Given the description of an element on the screen output the (x, y) to click on. 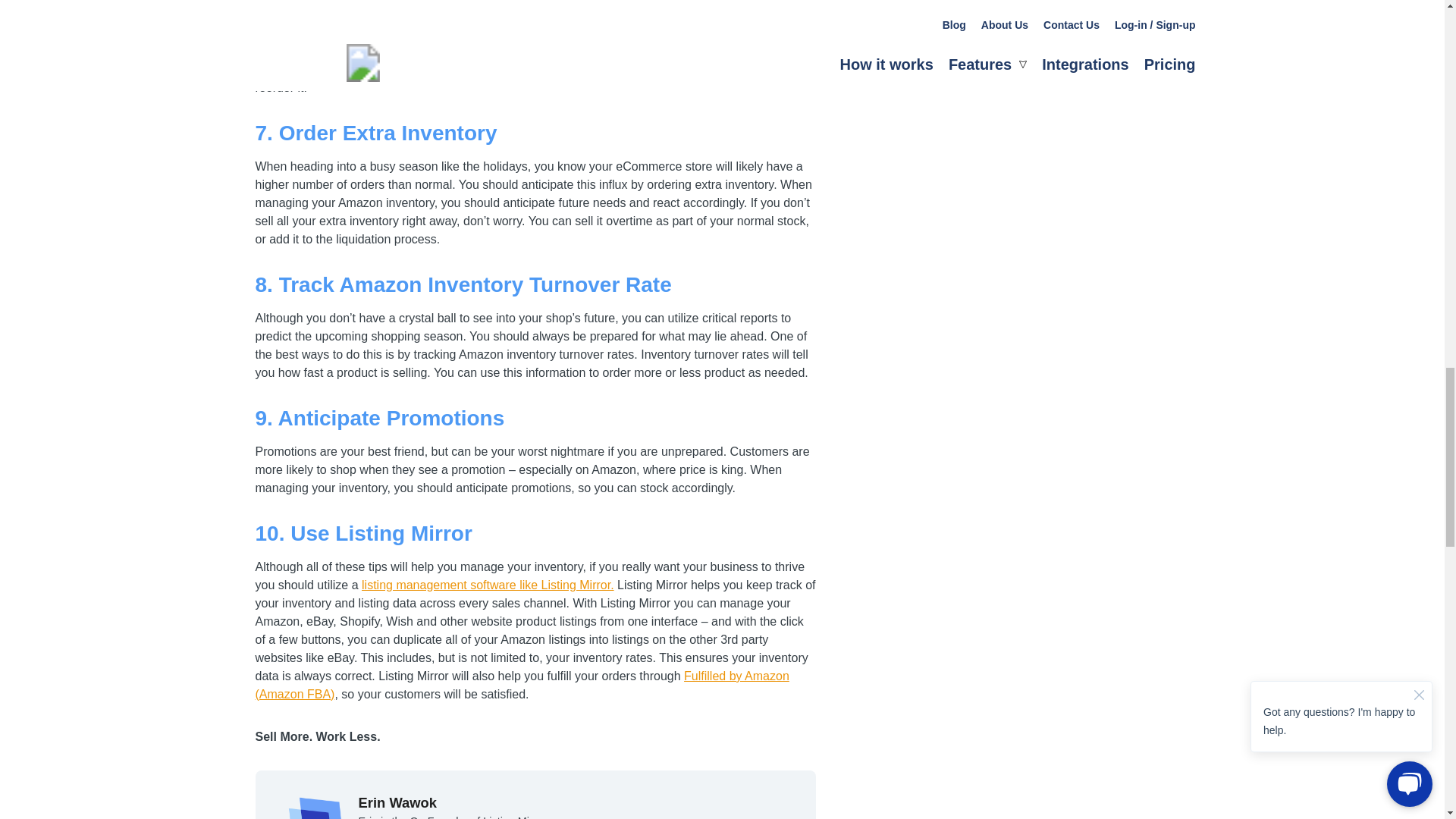
listing management software like Listing Mirror. (487, 584)
